Given the description of an element on the screen output the (x, y) to click on. 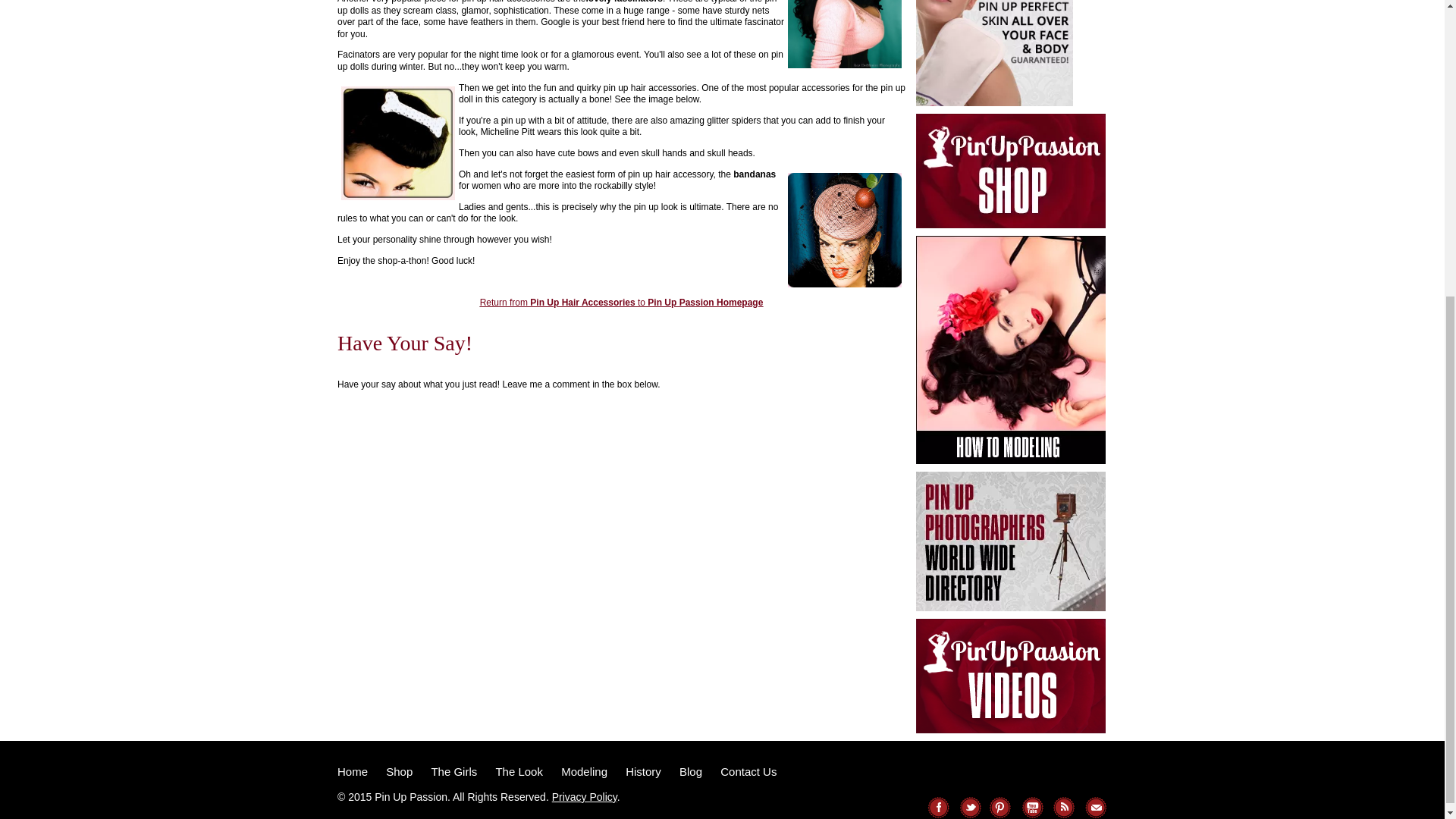
Go to Pin Up Passion Videos (1013, 737)
Go to Discover The Goodies In The Pin Up Passion Shop  (1013, 232)
